Given the description of an element on the screen output the (x, y) to click on. 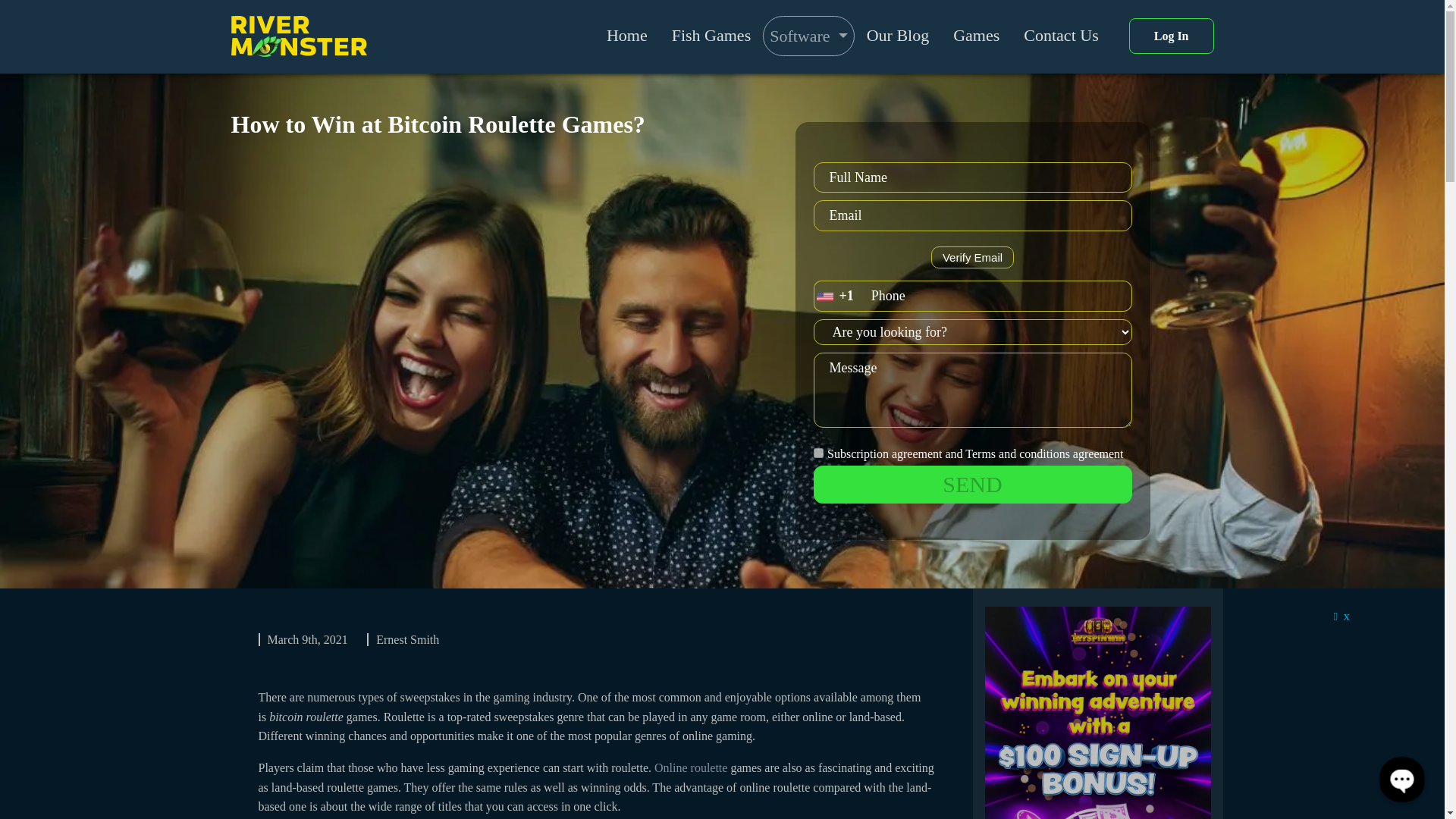
Software (808, 35)
Send (971, 484)
1 (817, 452)
Log In (1171, 36)
Games (975, 34)
Send (971, 484)
Fish Games (710, 34)
Terms and conditions (1017, 453)
Home (626, 34)
Our Blog (898, 34)
Contact Us (1060, 34)
Online roulette (689, 767)
